Given the description of an element on the screen output the (x, y) to click on. 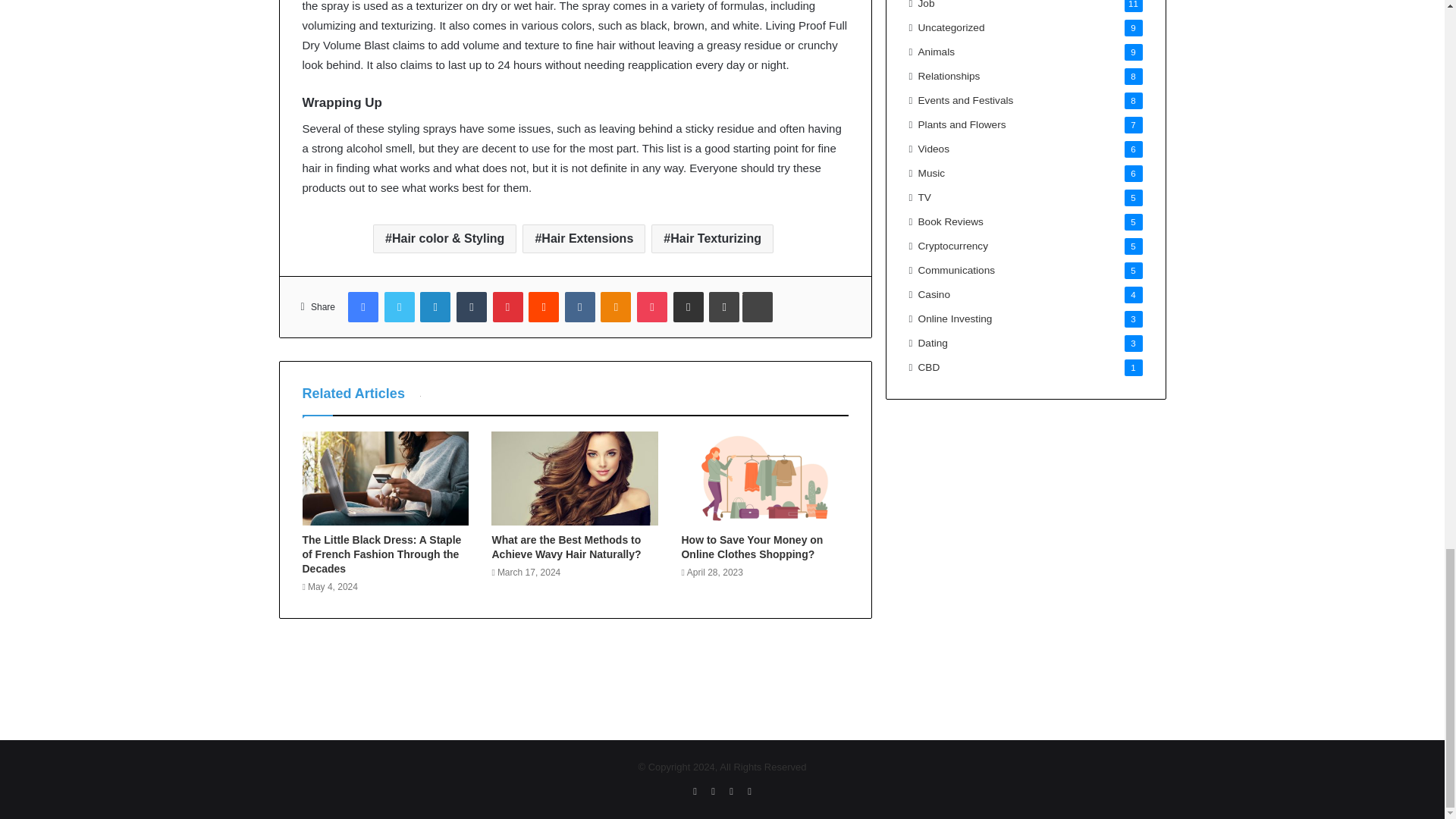
Hair Texturizing (711, 238)
Hair Extensions (583, 238)
